Given the description of an element on the screen output the (x, y) to click on. 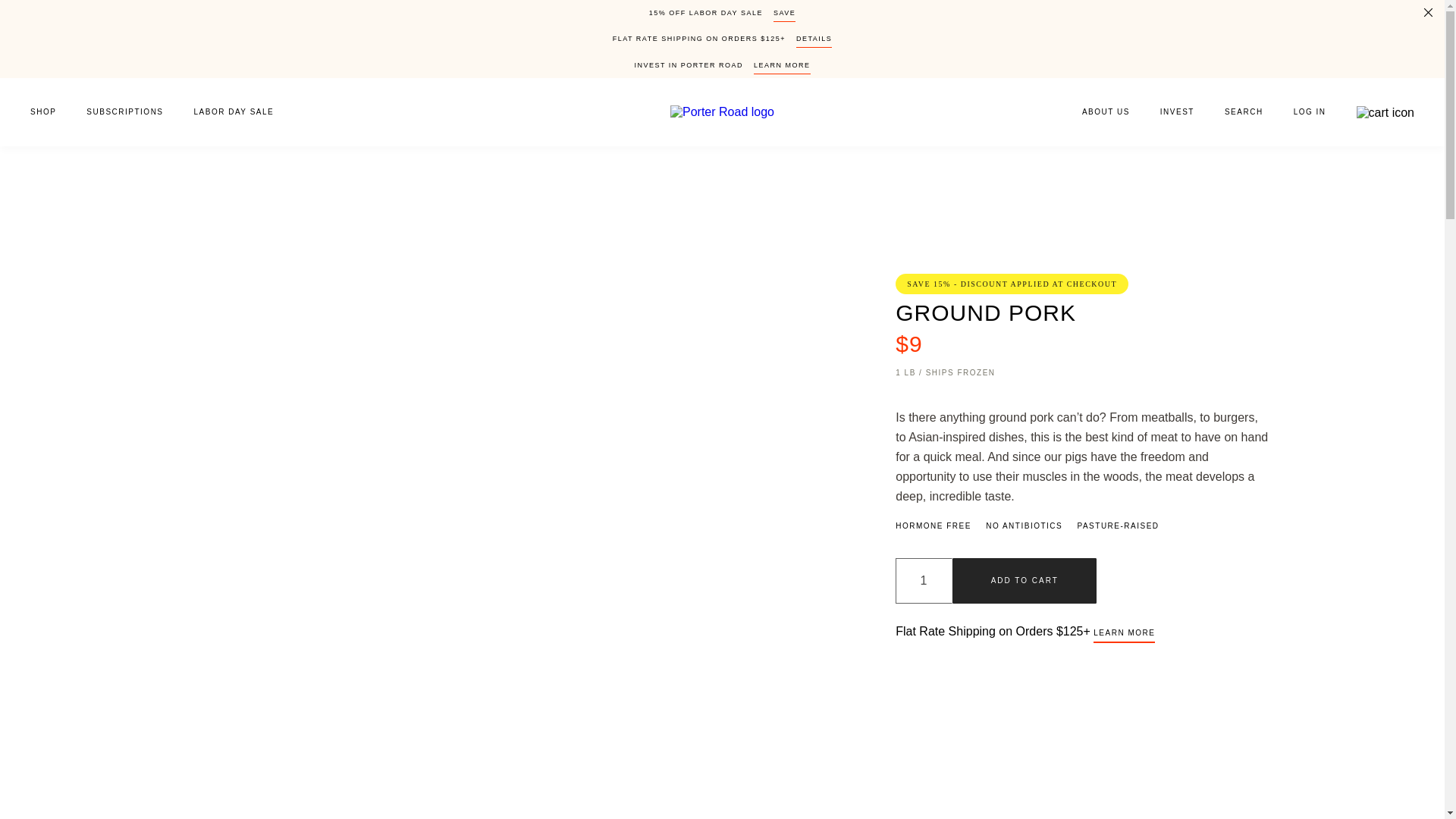
SHOP (35, 111)
ABOUT US (1097, 111)
LOG IN (1309, 111)
LABOR DAY SALE (241, 111)
SEARCH (1243, 111)
SAVE (783, 15)
INVEST (1176, 111)
DETAILS (813, 41)
LEARN MORE (782, 67)
SUBSCRIPTIONS (124, 111)
